Given the description of an element on the screen output the (x, y) to click on. 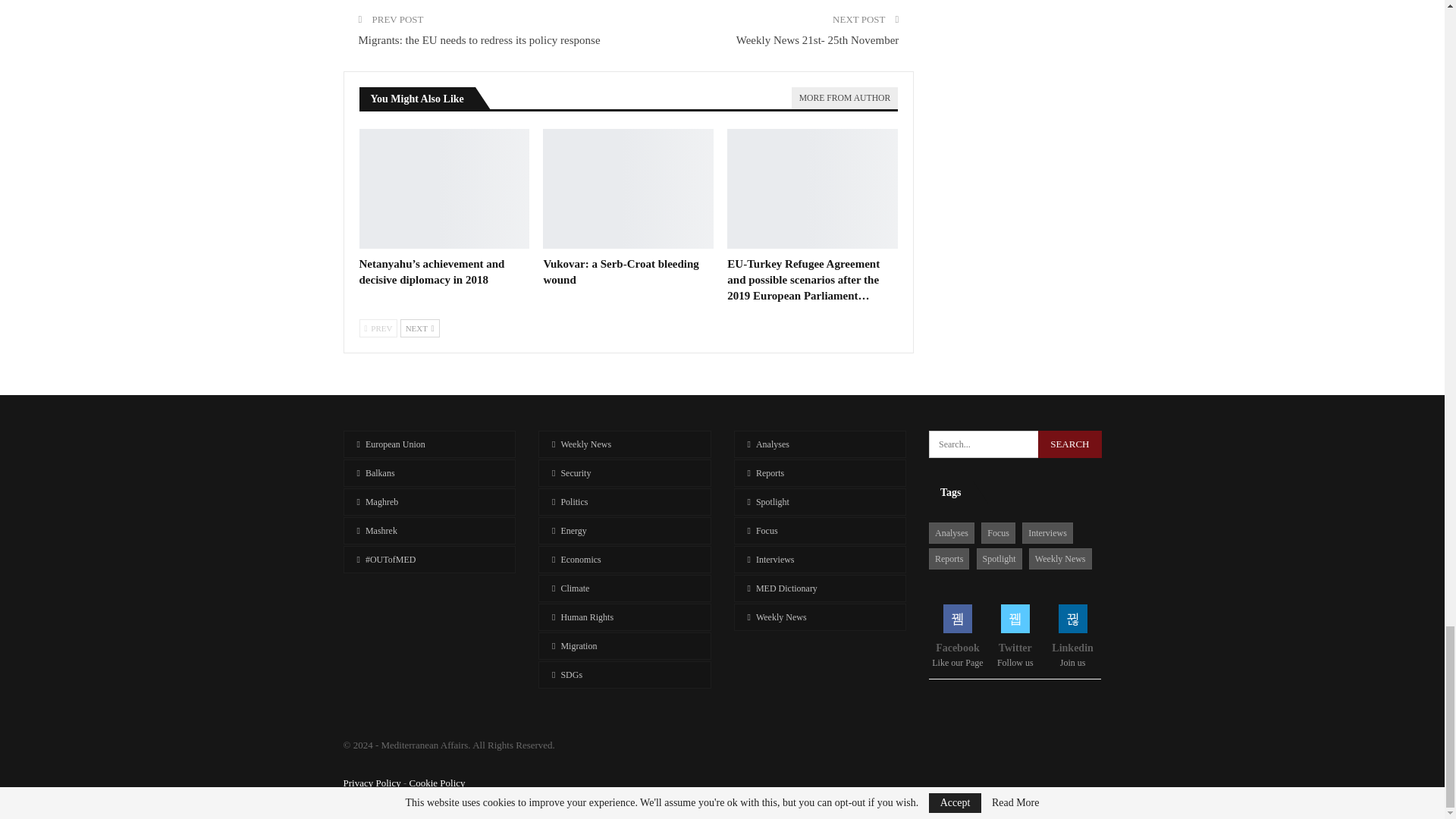
Previous (378, 328)
Vukovar: a Serb-Croat bleeding wound (620, 271)
Search (1069, 443)
Vukovar: a Serb-Croat bleeding wound (628, 188)
Search (1069, 443)
Next (419, 328)
